Given the description of an element on the screen output the (x, y) to click on. 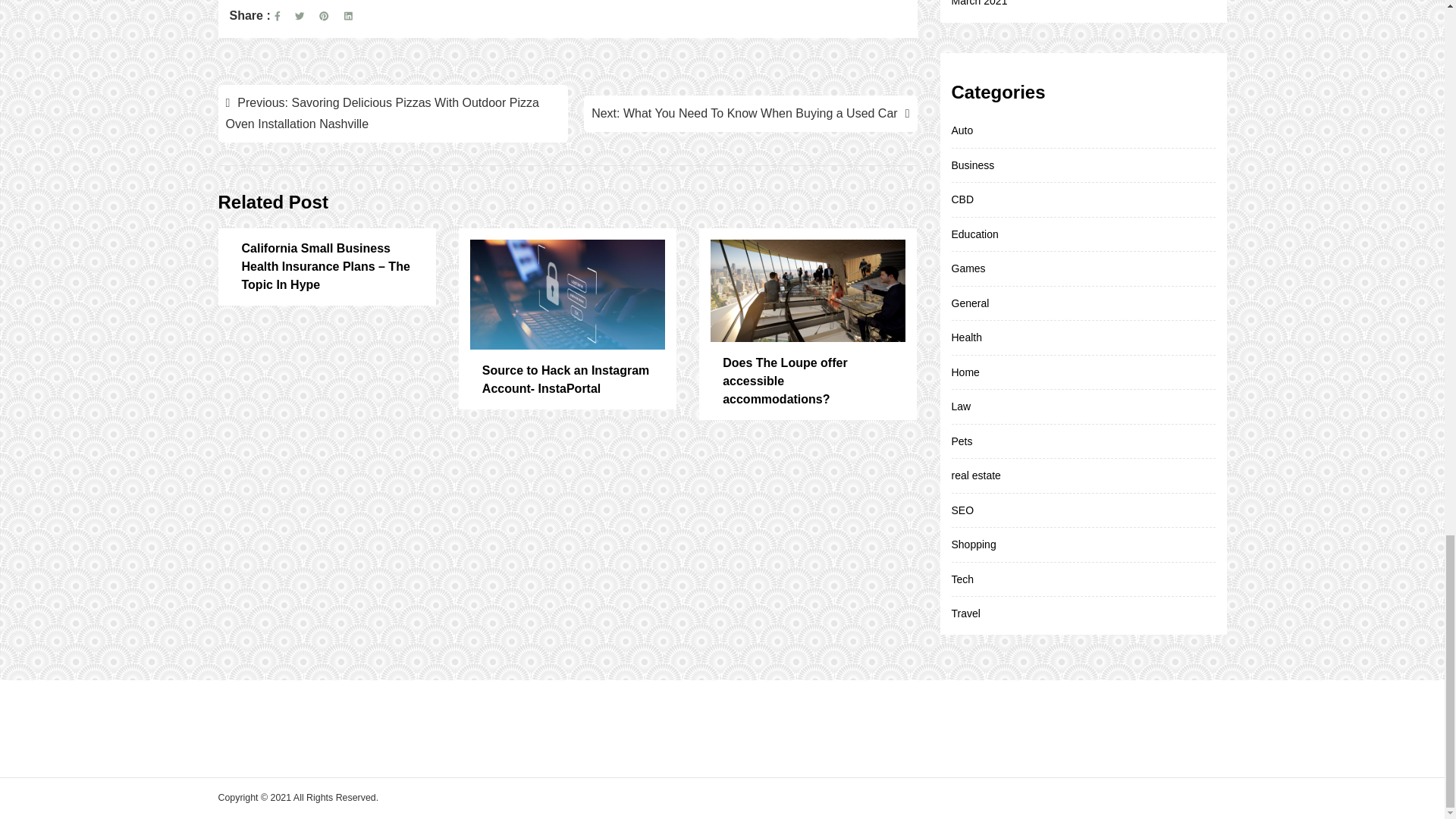
Next: What You Need To Know When Buying a Used Car (750, 113)
Source to Hack an Instagram Account- InstaPortal (566, 380)
Does The Loupe offer accessible accommodations? (807, 382)
